Given the description of an element on the screen output the (x, y) to click on. 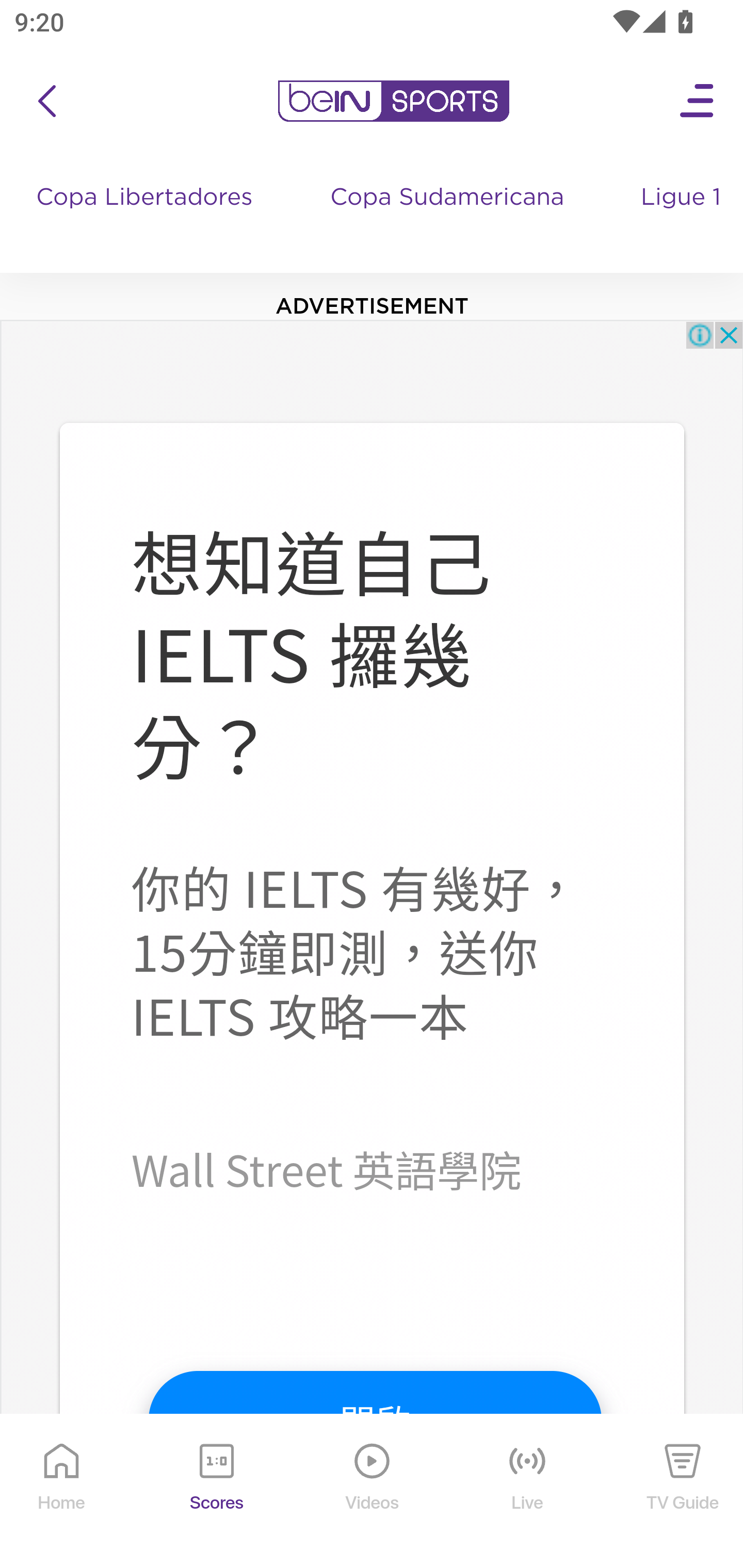
en-us?platform=mobile_android bein logo (392, 101)
icon back (46, 101)
Open Menu Icon (697, 101)
Copa Libertadores (146, 216)
Copa Sudamericana (448, 216)
Ligue 1 (682, 216)
想知道自己 IELTS 攞幾 分？ 想知道自己 IELTS 攞幾 分？ (311, 651)
Wall Street 英語學院 (325, 1167)
Home Home Icon Home (61, 1491)
Scores Scores Icon Scores (216, 1491)
Videos Videos Icon Videos (372, 1491)
TV Guide TV Guide Icon TV Guide (682, 1491)
